Given the description of an element on the screen output the (x, y) to click on. 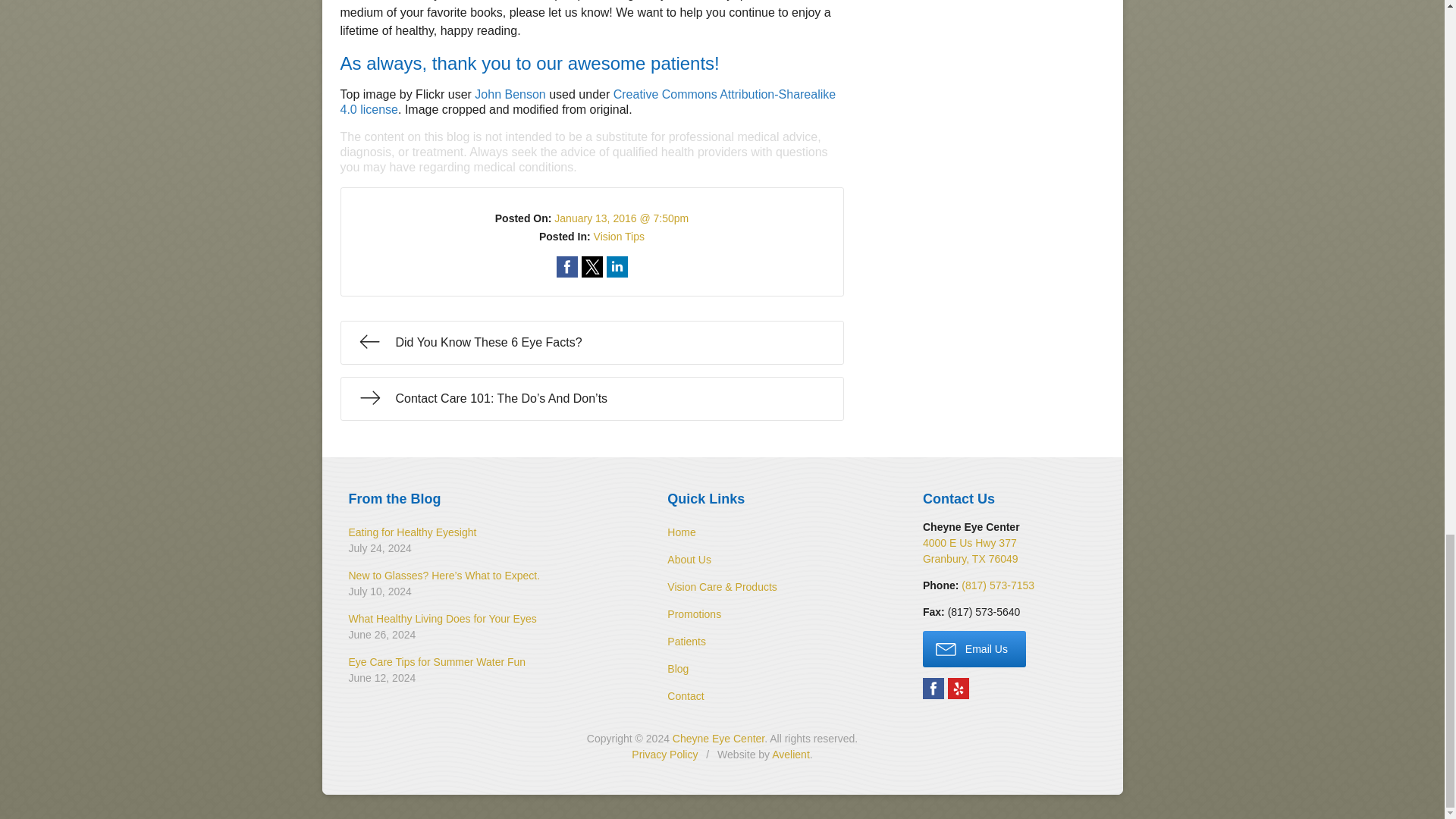
Creative Commons Attribution-Sharealike 4.0 license (587, 101)
Did You Know These 6 Eye Facts? (591, 342)
Share on LinkedIn (617, 266)
Contact practice (996, 585)
Share on Twitter (591, 266)
Open this address in Google Maps (970, 551)
Share on Twitter (591, 266)
Share on Facebook (567, 266)
Vision Tips (619, 236)
Go to our Facebook Page (933, 688)
Go to our Yelp Page (958, 688)
Powered by Avelient (790, 754)
John Benson (509, 93)
Share on Facebook (567, 266)
Share on LinkedIn (617, 266)
